Given the description of an element on the screen output the (x, y) to click on. 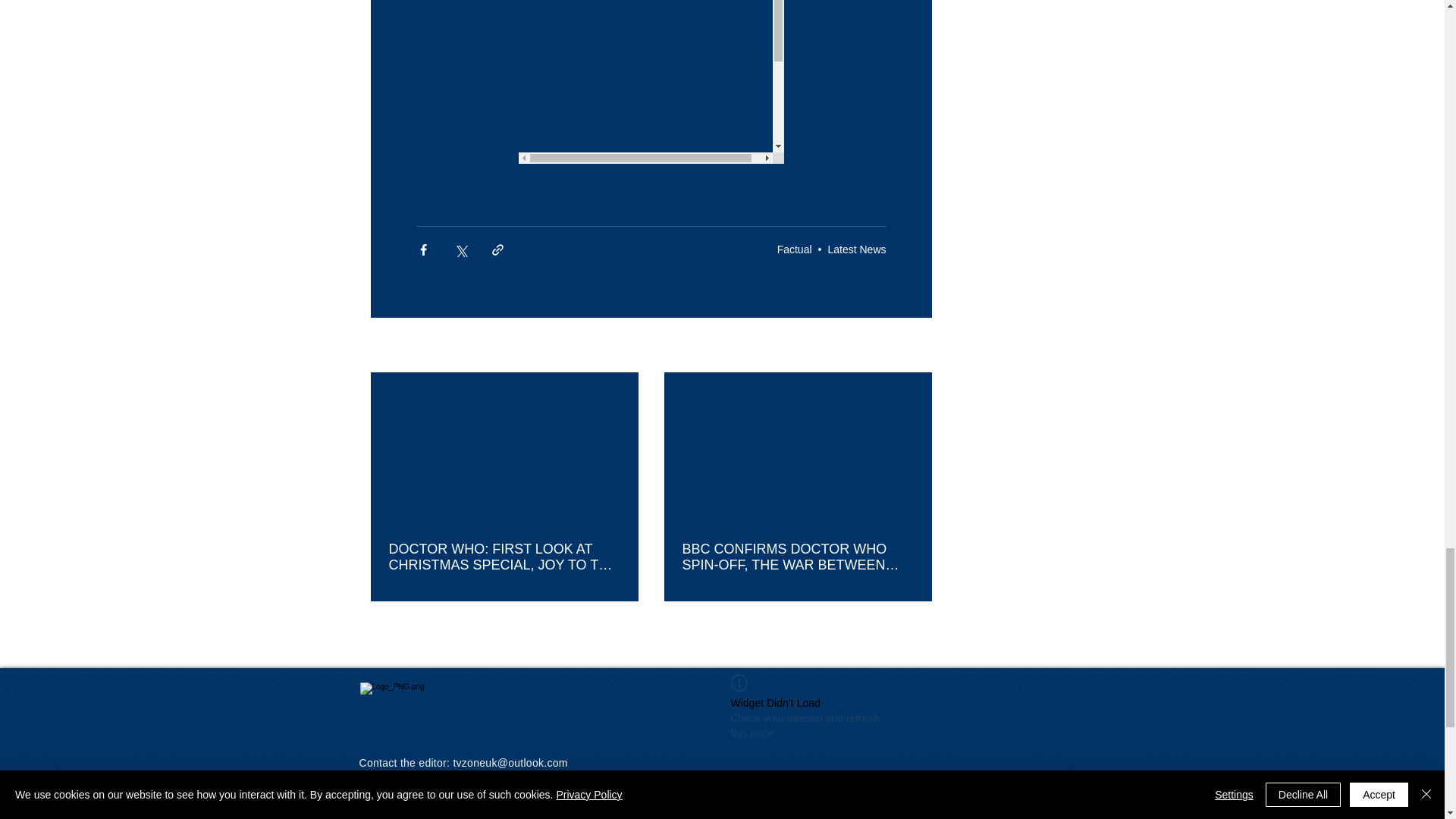
Latest News (856, 249)
remote content (651, 81)
See All (914, 345)
Factual (794, 249)
